Given the description of an element on the screen output the (x, y) to click on. 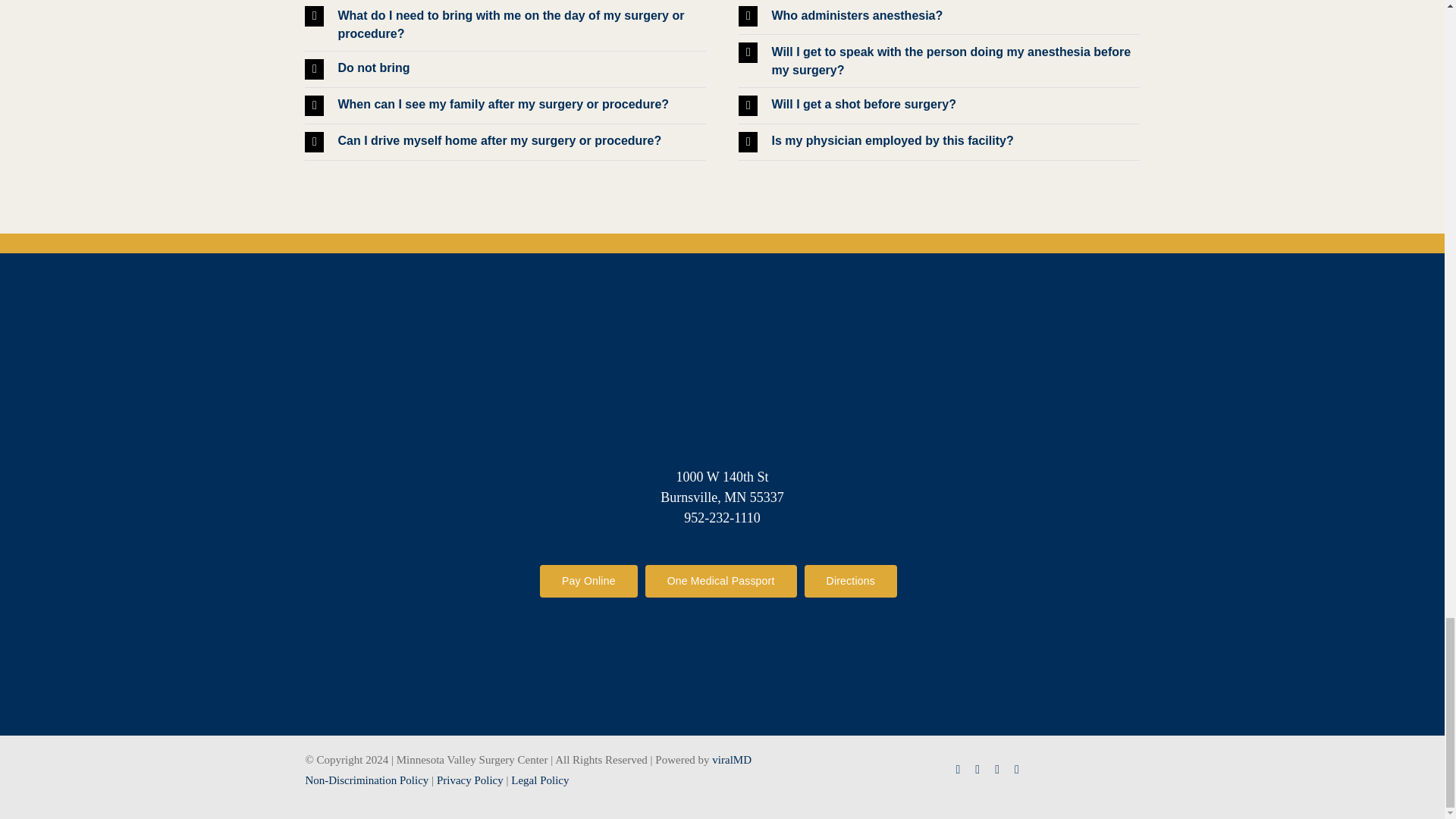
Do not bring (504, 68)
mvsc-logo-2023-v2 (722, 389)
